Given the description of an element on the screen output the (x, y) to click on. 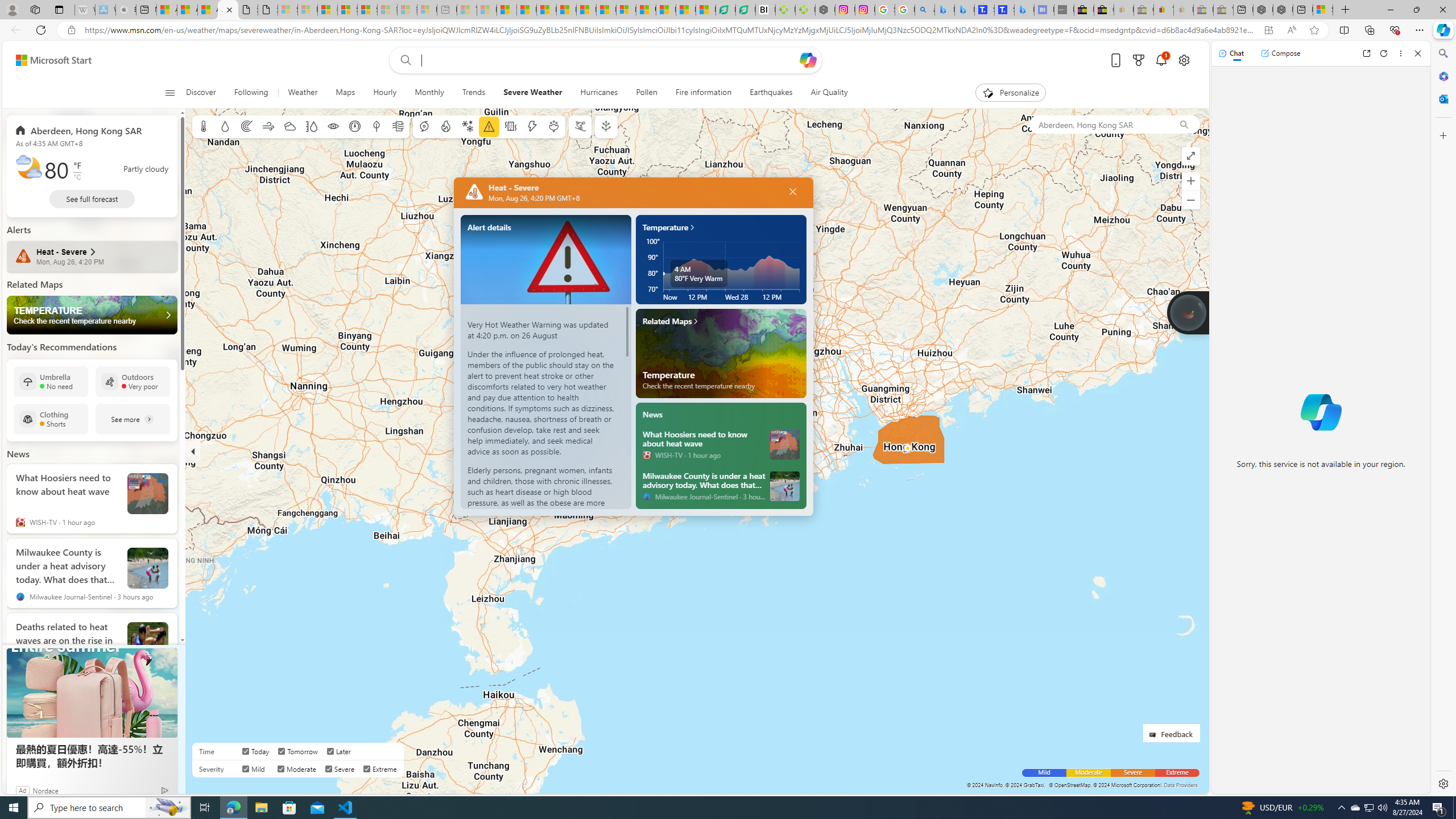
Deaths related to heat waves are on the rise in U.S. (148, 642)
What Hoosiers need to know about heat wave (784, 444)
Class: feedback_link_icon-DS-EntryPoint1-1 (1154, 734)
Microsoft account | Account Checkup - Sleeping (427, 9)
Payments Terms of Use | eBay.com - Sleeping (1183, 9)
Visibility (333, 126)
